Given the description of an element on the screen output the (x, y) to click on. 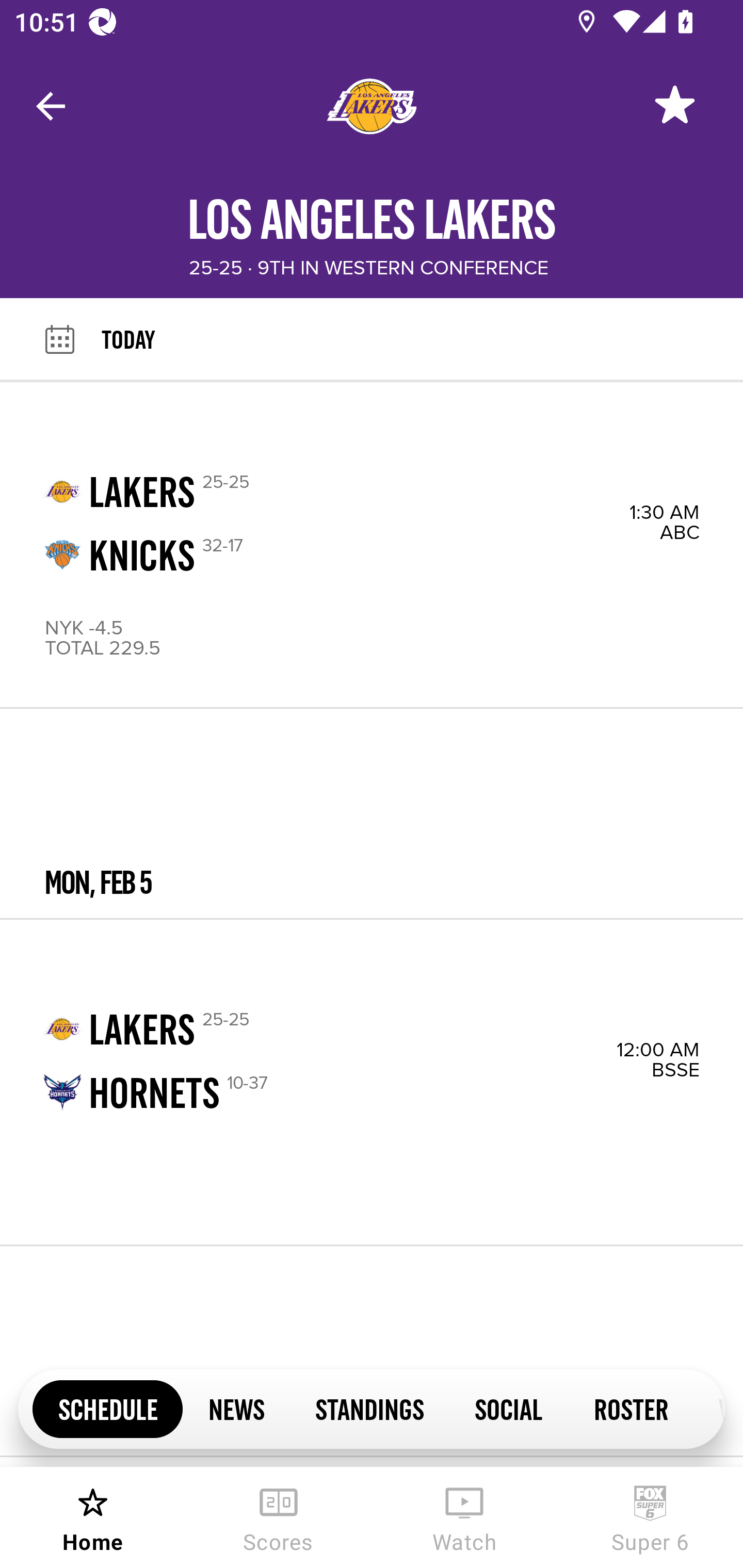
Navigate up (50, 106)
25-25 · 9TH IN WESTERN CONFERENCE (368, 267)
TODAY (422, 339)
MON, FEB 5 (371, 813)
LAKERS 25-25 12:00 AM HORNETS 10-37 BSSE (371, 1082)
NEWS (235, 1408)
STANDINGS (369, 1408)
SOCIAL (508, 1408)
ROSTER (630, 1408)
Scores (278, 1517)
Watch (464, 1517)
Super 6 (650, 1517)
